Given the description of an element on the screen output the (x, y) to click on. 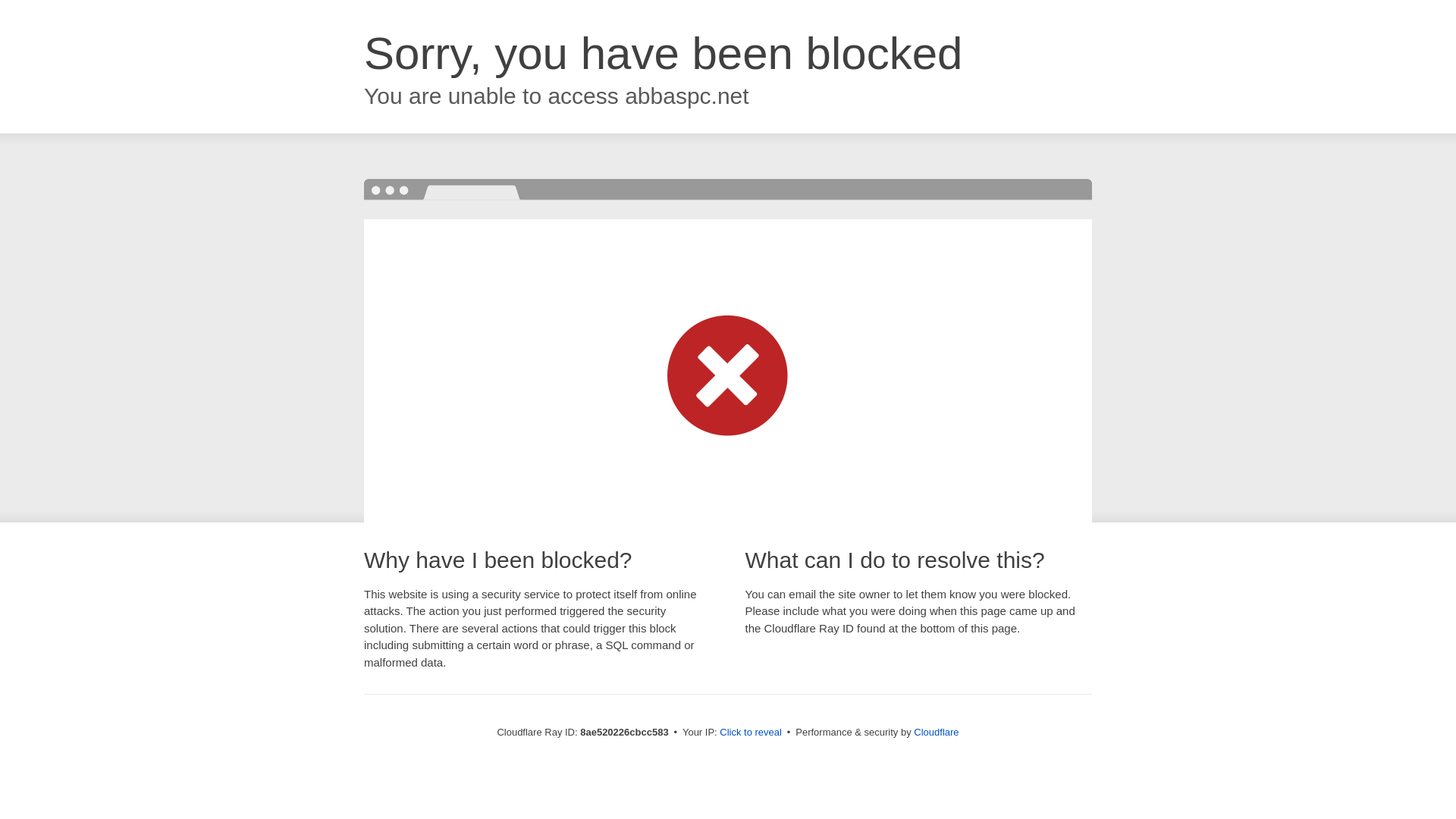
Cloudflare (936, 731)
Click to reveal (750, 732)
